Given the description of an element on the screen output the (x, y) to click on. 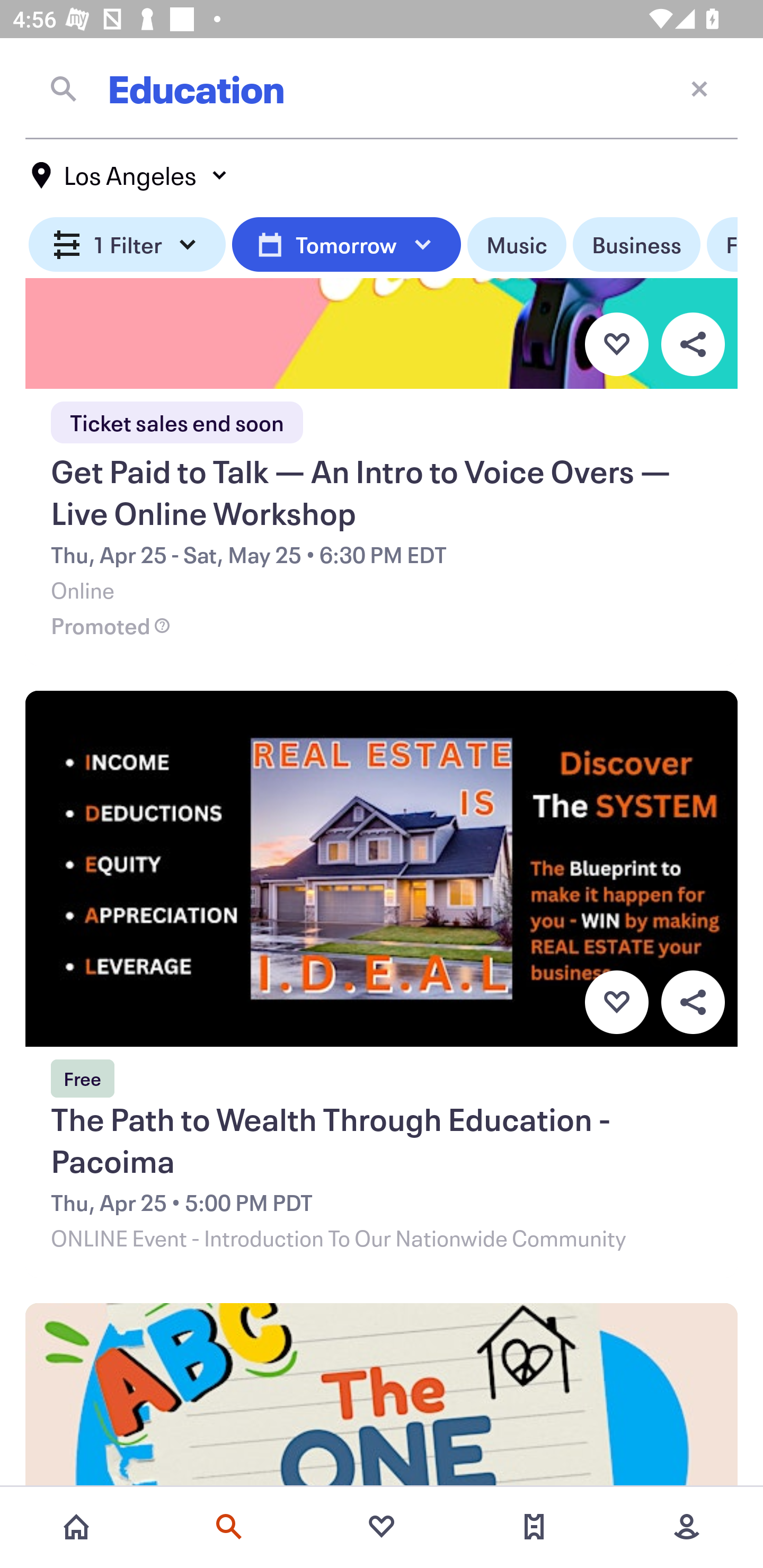
Education Close current screen (381, 88)
Close current screen (699, 88)
Los Angeles (130, 175)
Favorite button (616, 343)
Overflow menu button (692, 343)
Favorite button (616, 1002)
Overflow menu button (692, 1002)
Event's image (381, 1397)
Home (76, 1526)
Search events (228, 1526)
Favorites (381, 1526)
Tickets (533, 1526)
More (686, 1526)
